Given the description of an element on the screen output the (x, y) to click on. 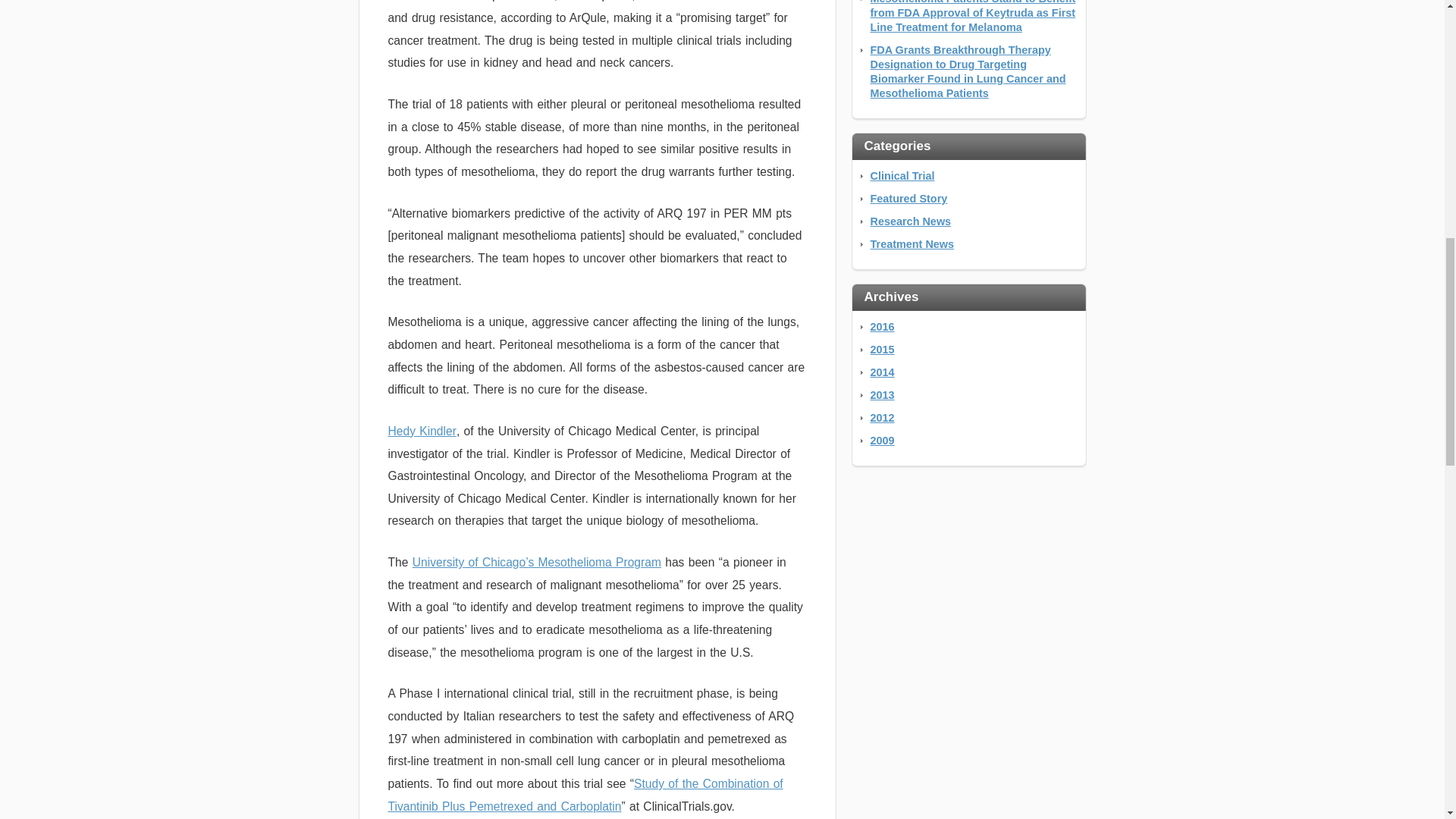
Featured Story (908, 198)
Research News (911, 221)
Hedy Kindler (422, 431)
2013 (882, 395)
2015 (882, 349)
Treatment News (912, 244)
2012 (882, 417)
2016 (882, 326)
2014 (882, 372)
2009 (882, 440)
